Given the description of an element on the screen output the (x, y) to click on. 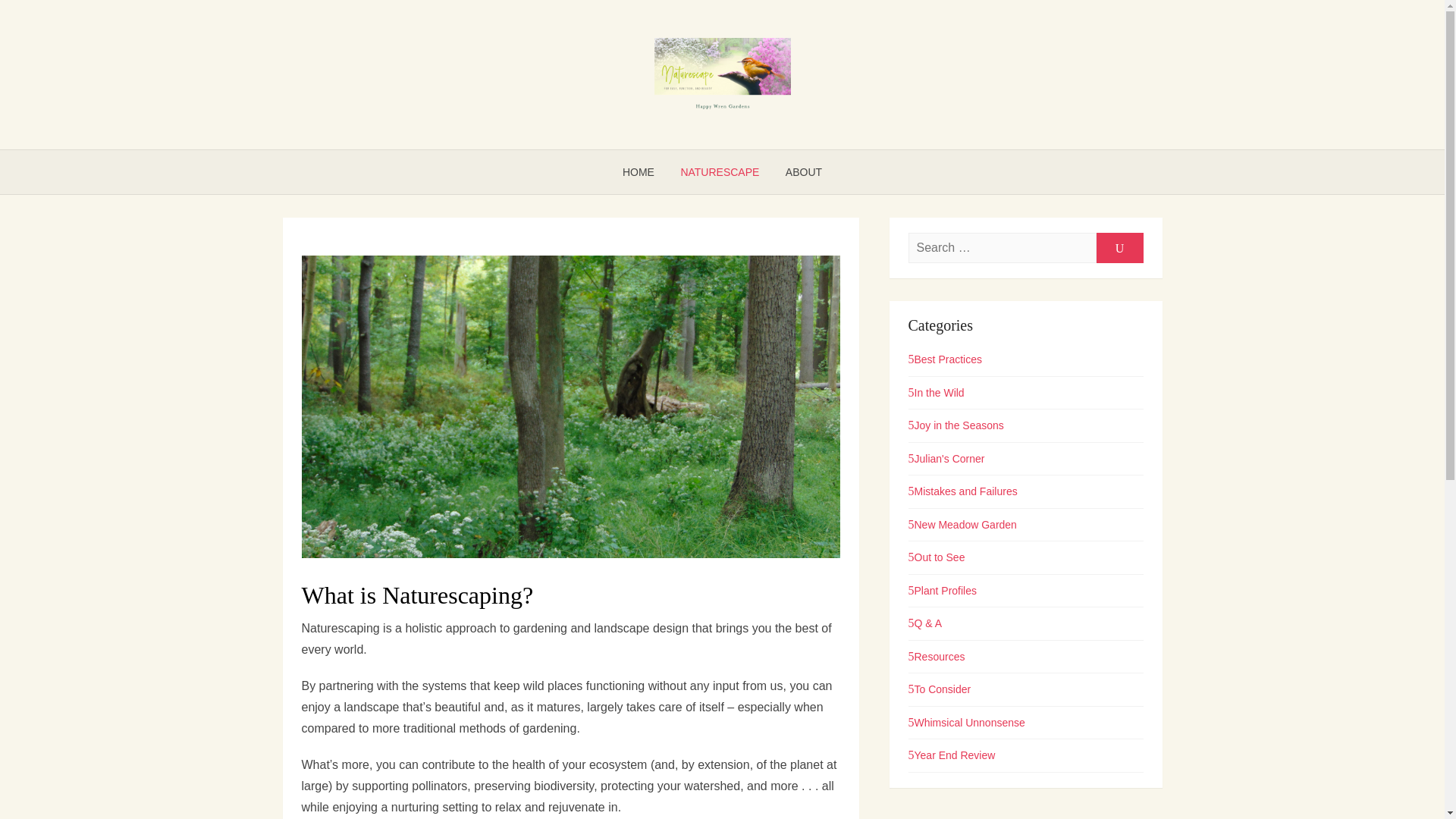
Julian's Corner (946, 458)
Whimsical Unnonsense (966, 722)
Out to See (936, 557)
Year End Review (951, 755)
To Consider (939, 689)
In the Wild (935, 392)
Plant Profiles (942, 590)
NATURESCAPE (719, 171)
Mistakes and Failures (962, 491)
SEARCH (1119, 247)
